Given the description of an element on the screen output the (x, y) to click on. 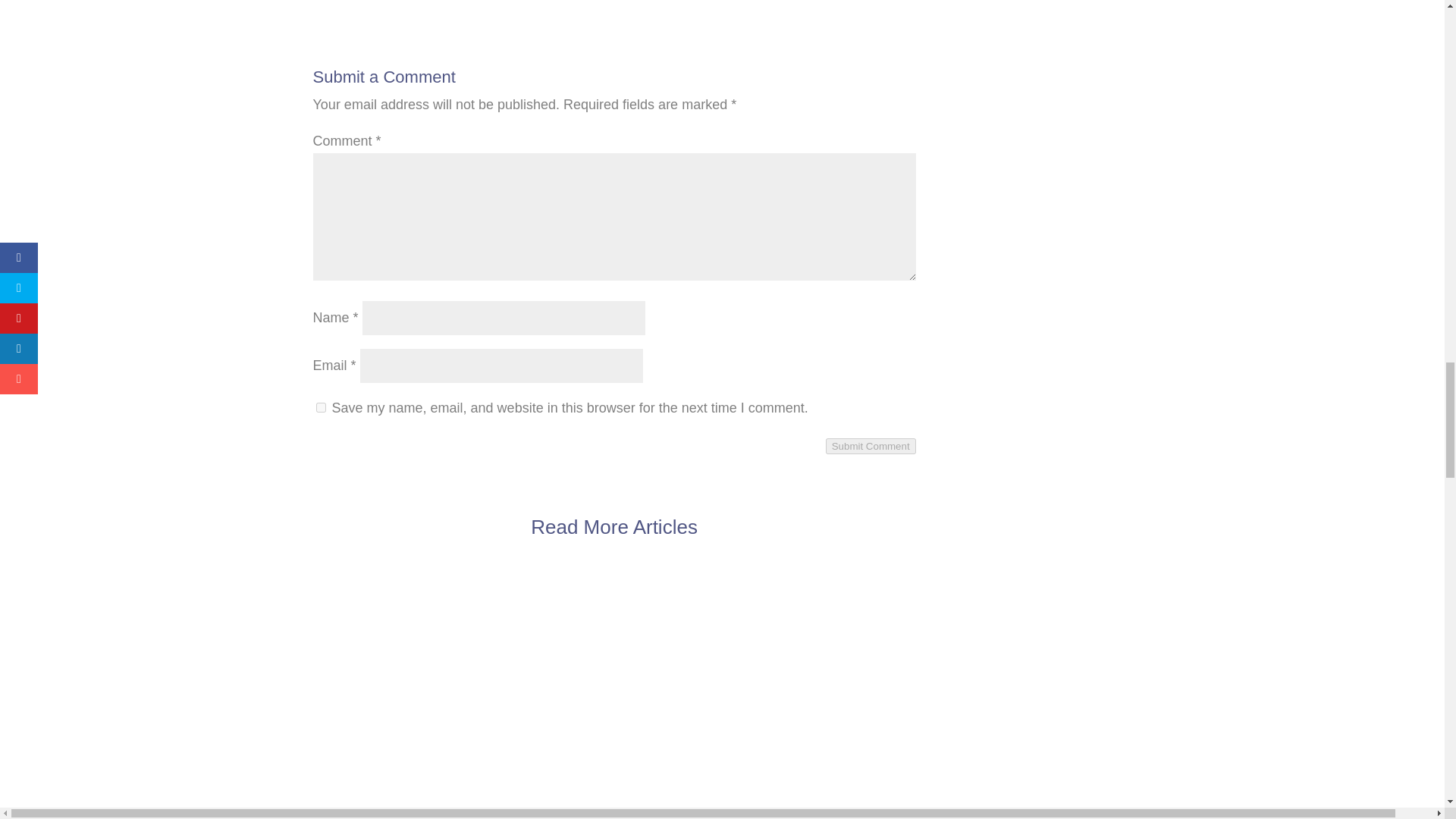
yes (319, 407)
Submit Comment (870, 446)
